Given the description of an element on the screen output the (x, y) to click on. 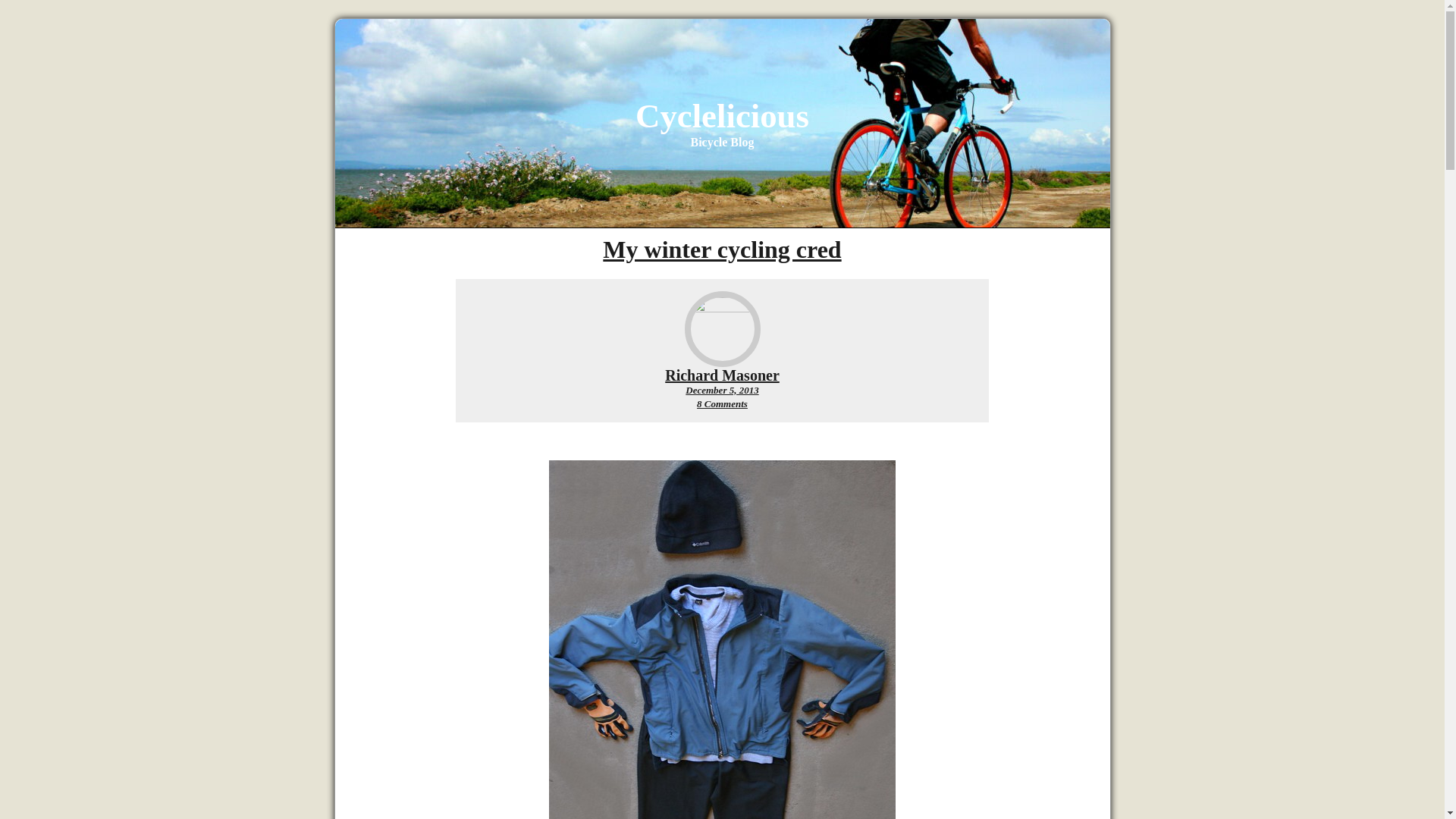
My winter cycling cred (721, 248)
12:31 pm (722, 403)
View all posts by Richard Masoner (721, 389)
Cyclelicious (721, 375)
Skip to content (721, 116)
December 5, 2013 (721, 375)
